Given the description of an element on the screen output the (x, y) to click on. 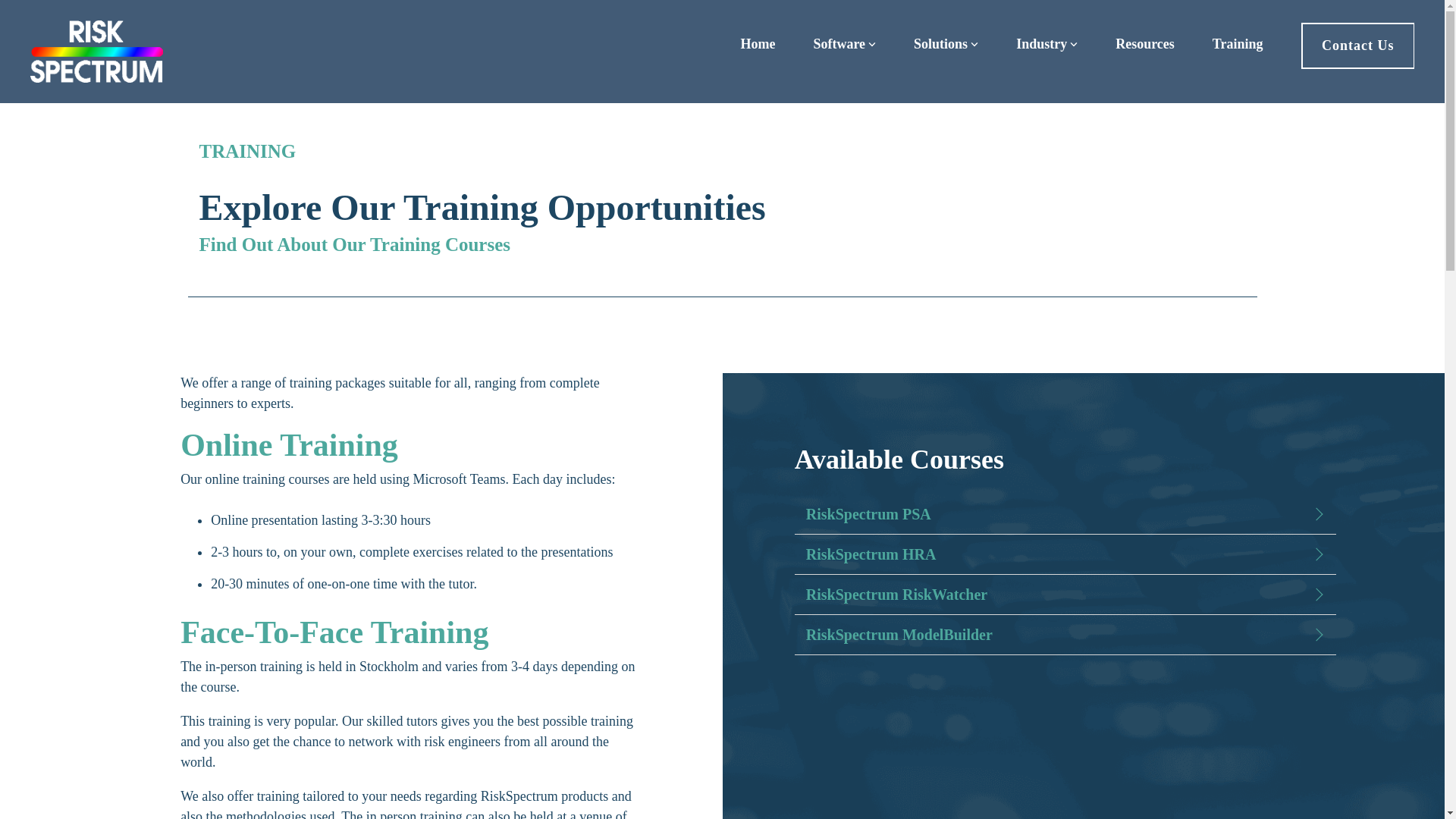
Home (756, 44)
Risk Spectrum Logo white (96, 51)
Contact Us (1358, 45)
Resources (1144, 44)
Industry (1046, 44)
Training (1237, 44)
Solutions (946, 44)
Software (844, 44)
